Given the description of an element on the screen output the (x, y) to click on. 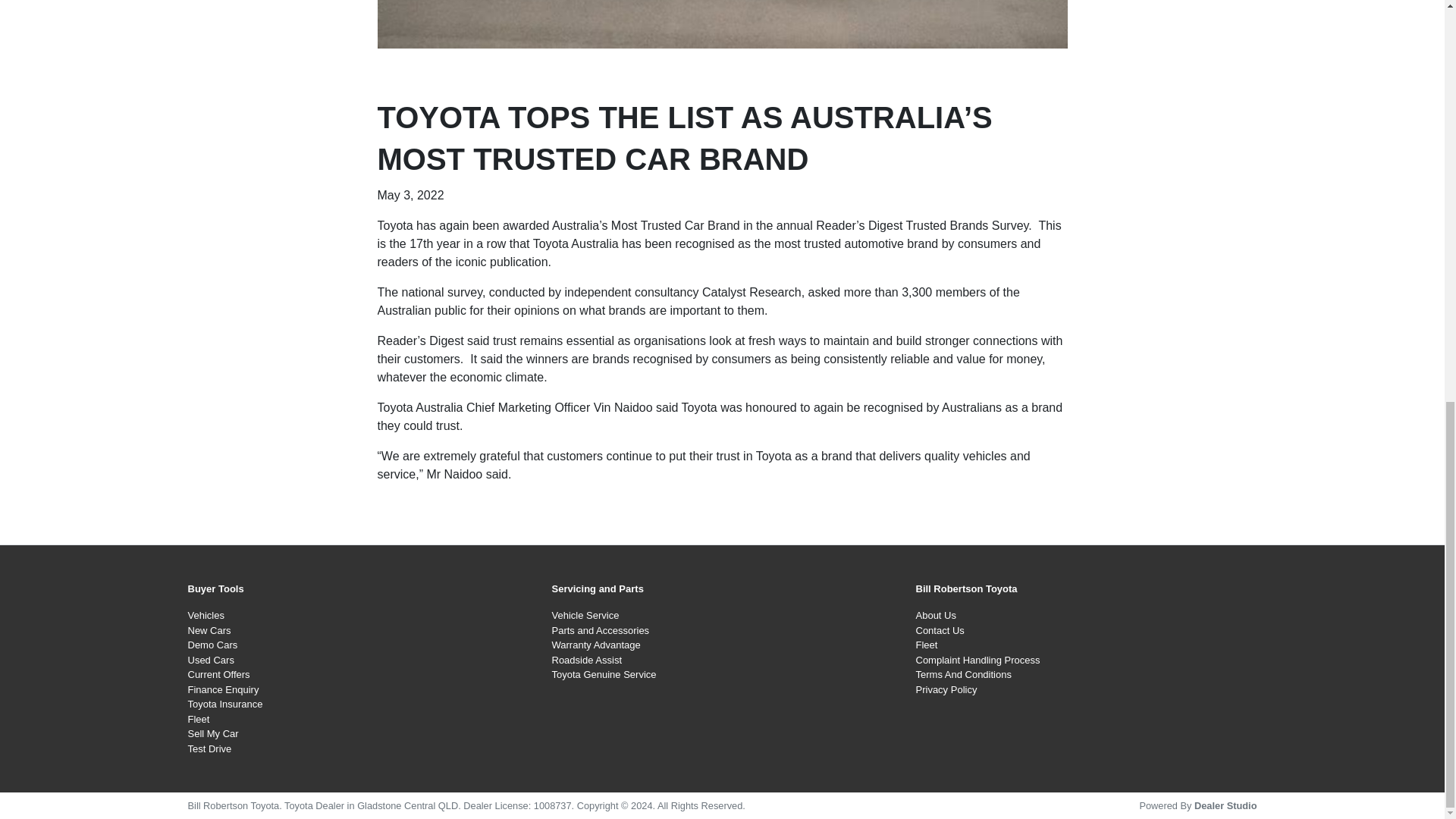
Finance Enquiry (223, 689)
Current Offers (218, 674)
Toyota Insurance (225, 704)
Demo Cars (212, 644)
Vehicles (205, 614)
Used Cars (210, 659)
Fleet (198, 718)
New Cars (209, 630)
